Given the description of an element on the screen output the (x, y) to click on. 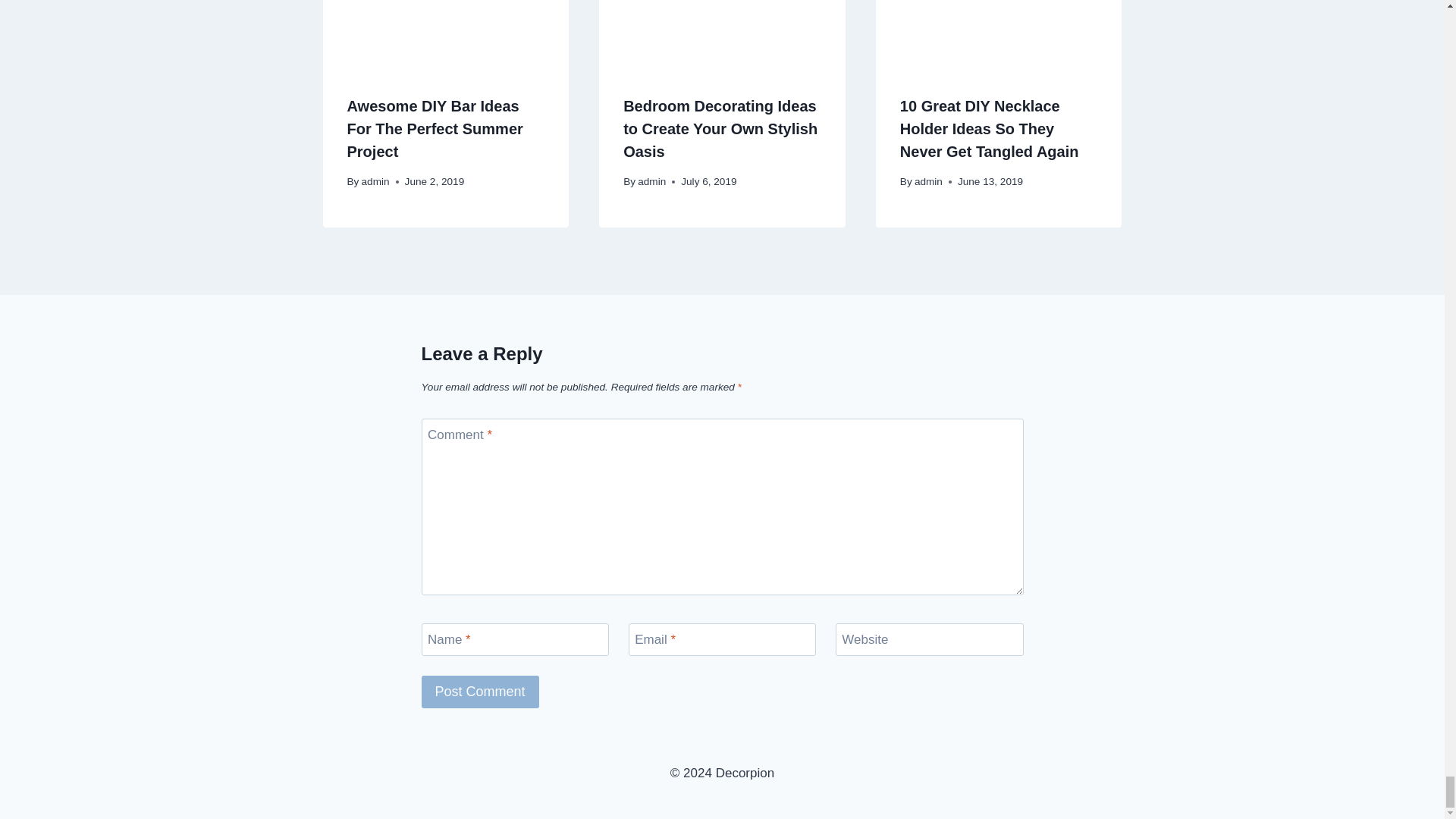
Post Comment (480, 691)
admin (375, 181)
Awesome DIY Bar Ideas For The Perfect Summer Project (434, 128)
